Given the description of an element on the screen output the (x, y) to click on. 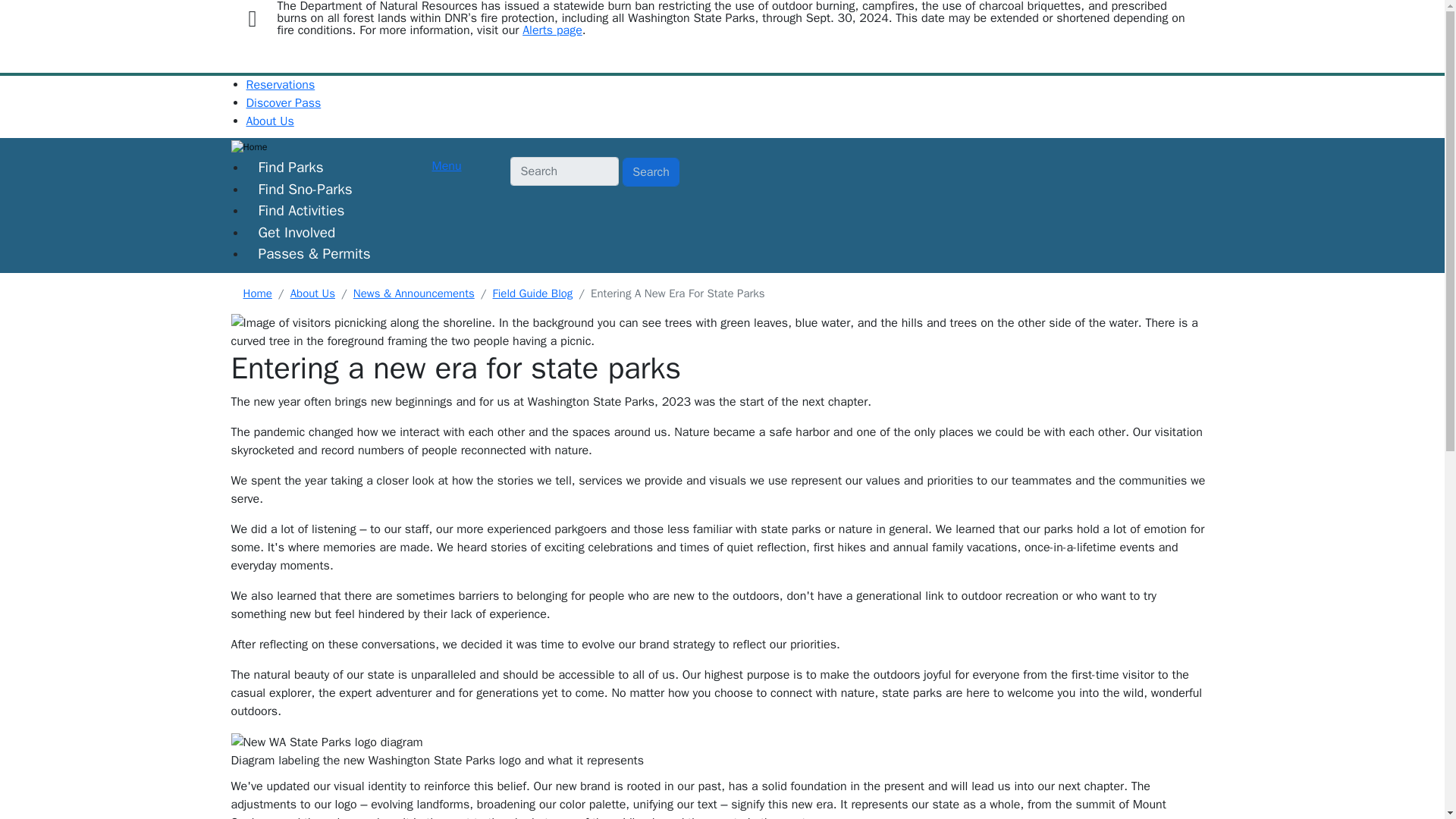
Field Guide Blog (533, 293)
About Us (270, 120)
Home (256, 293)
Reservations (280, 84)
Home (454, 147)
Find Sno-Parks (305, 189)
Find Parks (290, 167)
Get Involved (296, 232)
Find Activities (301, 210)
Menu (446, 165)
